Given the description of an element on the screen output the (x, y) to click on. 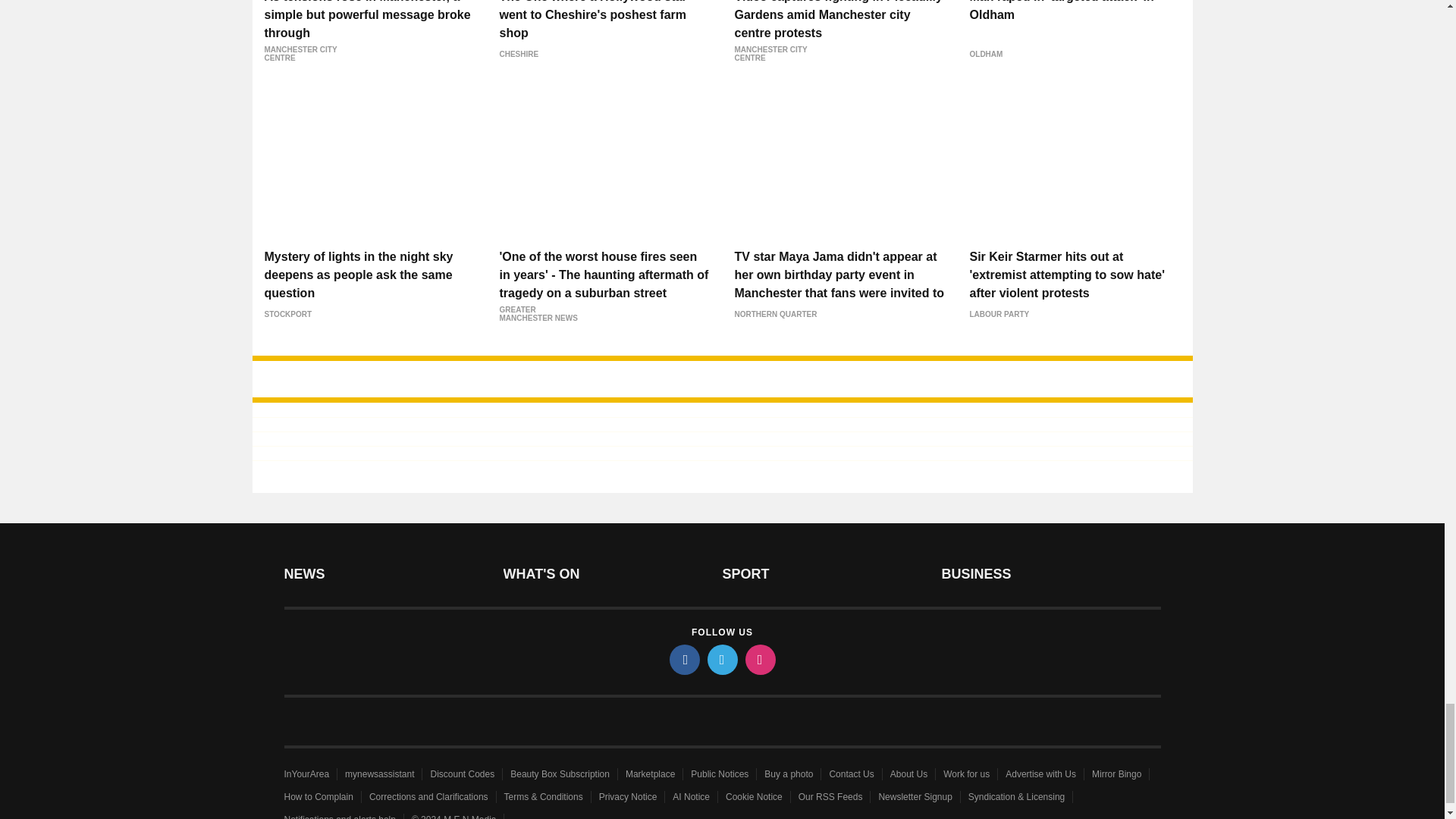
instagram (759, 659)
twitter (721, 659)
facebook (683, 659)
